Given the description of an element on the screen output the (x, y) to click on. 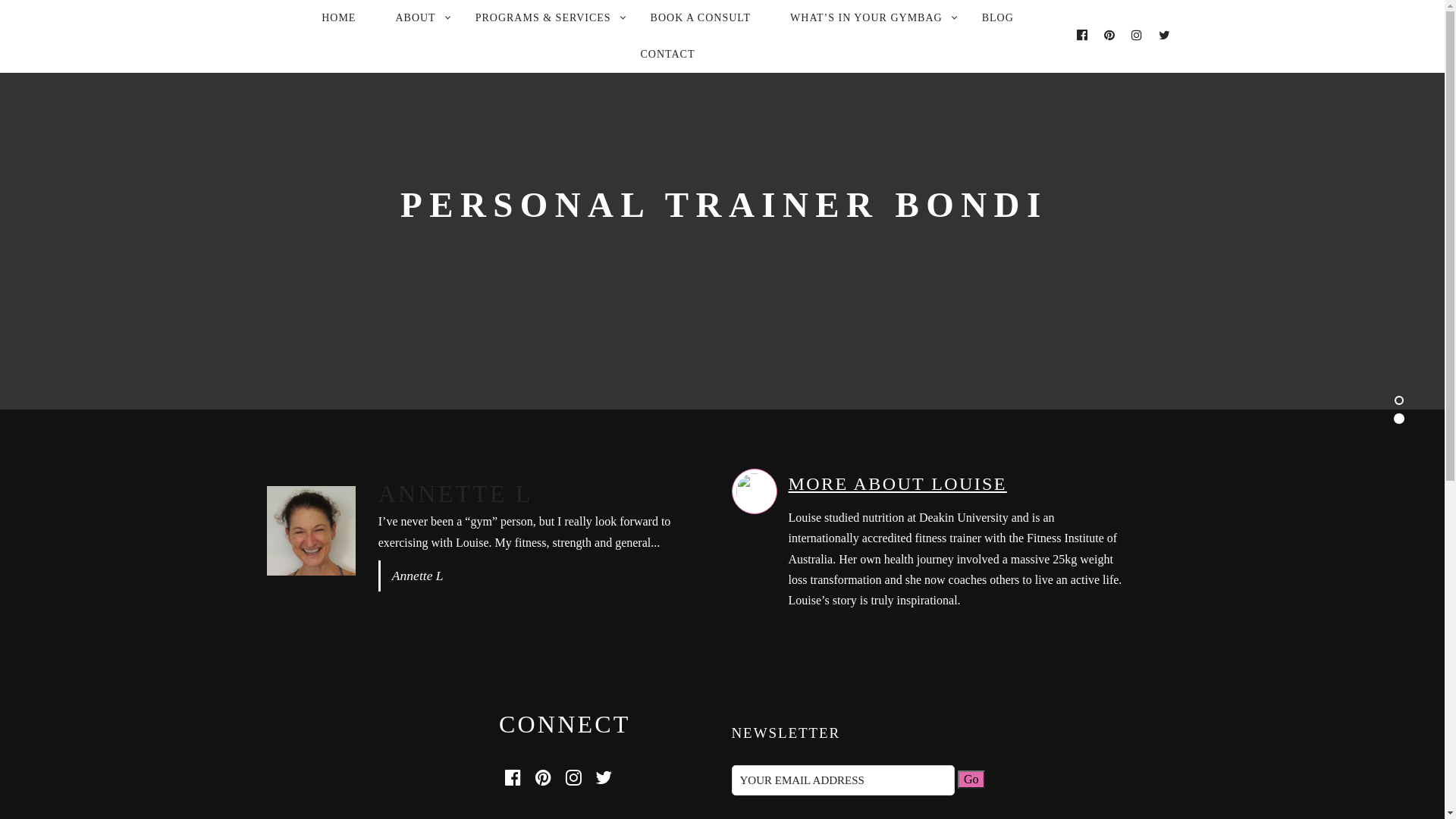
MORE ABOUT LOUISE Element type: text (897, 483)
PINTEREST Element type: text (542, 777)
INSTAGRAM Element type: text (572, 777)
BLOG Element type: text (997, 18)
Go Element type: text (971, 779)
HOME Element type: text (338, 18)
BOOK A CONSULT Element type: text (700, 18)
FACEBOOK Element type: text (512, 777)
PROGRAMS & SERVICES Element type: text (543, 18)
CONTACT Element type: text (666, 54)
TWITTER Element type: text (603, 777)
ABOUT Element type: text (414, 18)
